Given the description of an element on the screen output the (x, y) to click on. 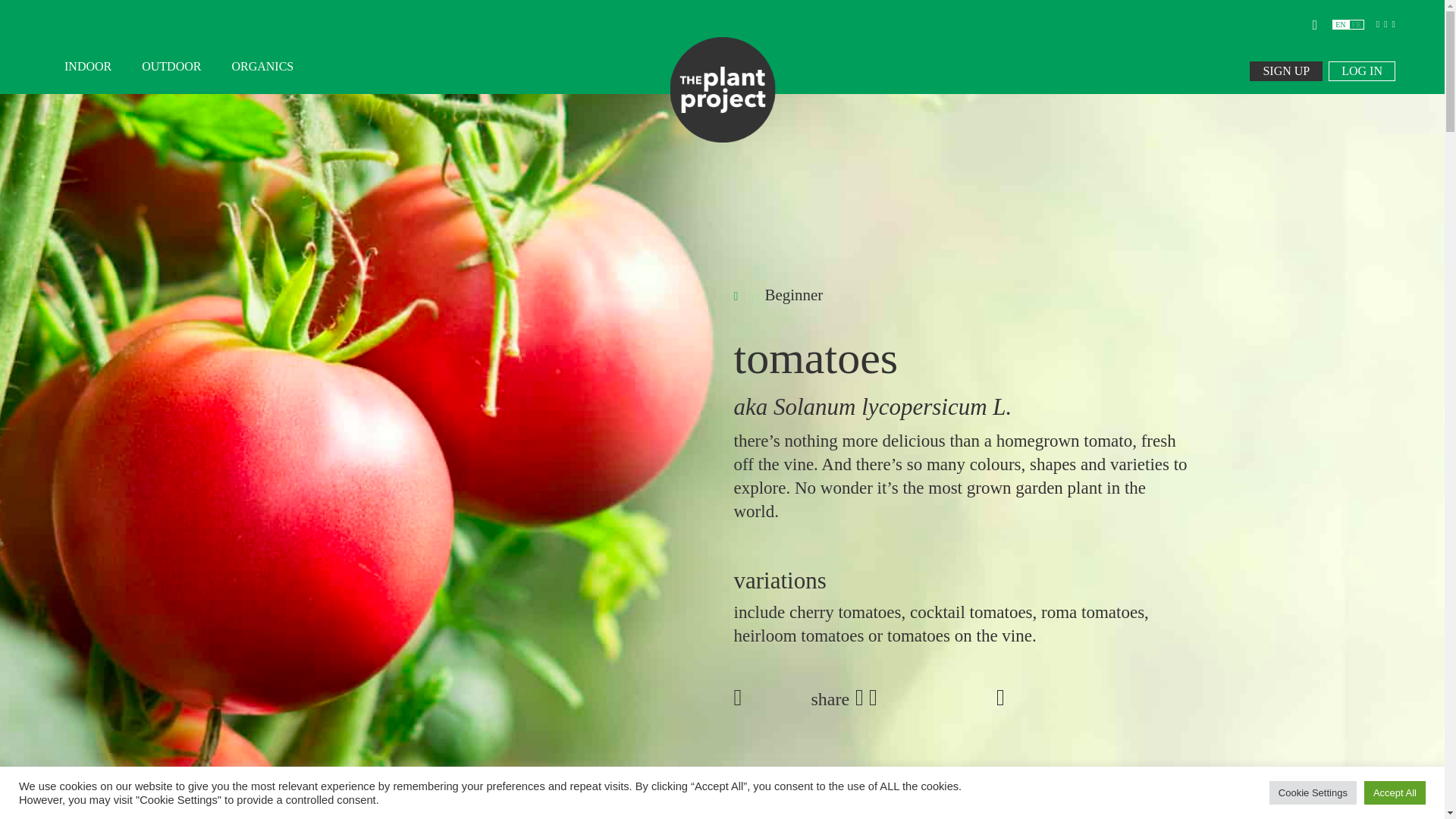
EN (1340, 24)
OUTDOOR (170, 66)
SIGN UP (1285, 71)
ORGANICS (254, 66)
LOG IN (1360, 71)
INDOOR (87, 66)
FR (1356, 24)
